Given the description of an element on the screen output the (x, y) to click on. 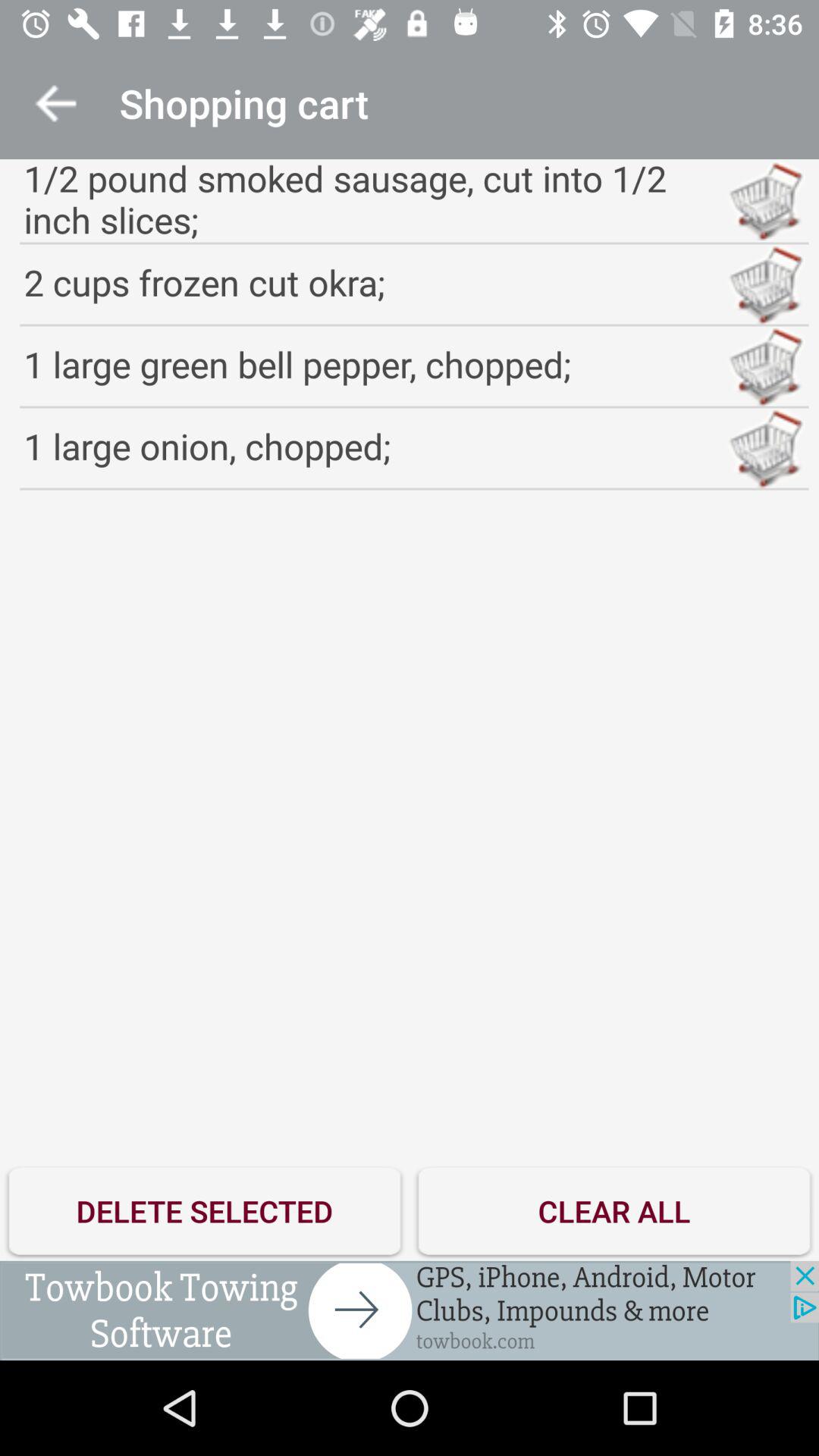
view advertisement (409, 1310)
